Given the description of an element on the screen output the (x, y) to click on. 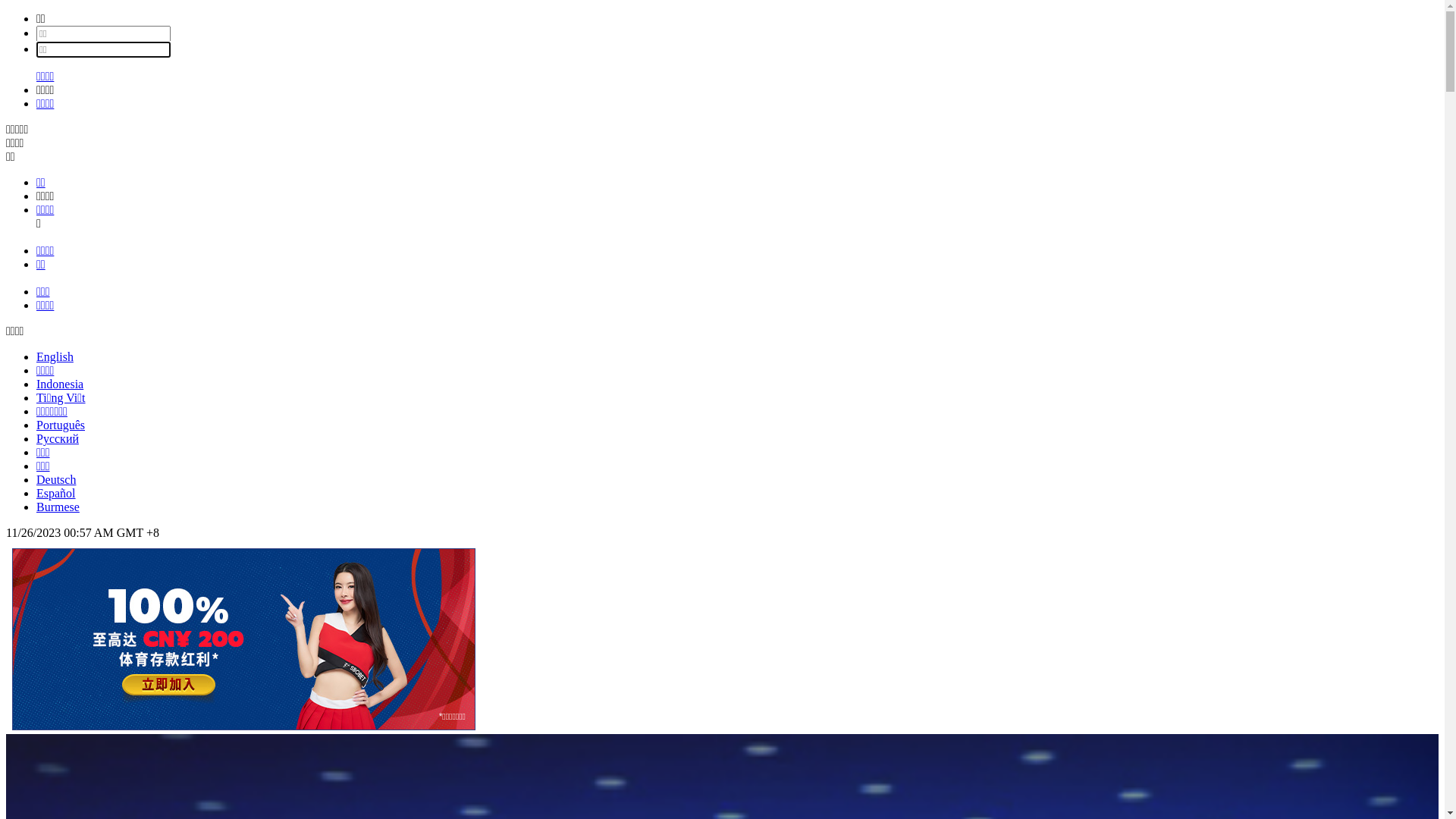
Burmese Element type: text (57, 506)
English Element type: text (54, 356)
Indonesia Element type: text (59, 383)
+ Element type: text (149, 532)
Deutsch Element type: text (55, 479)
